Given the description of an element on the screen output the (x, y) to click on. 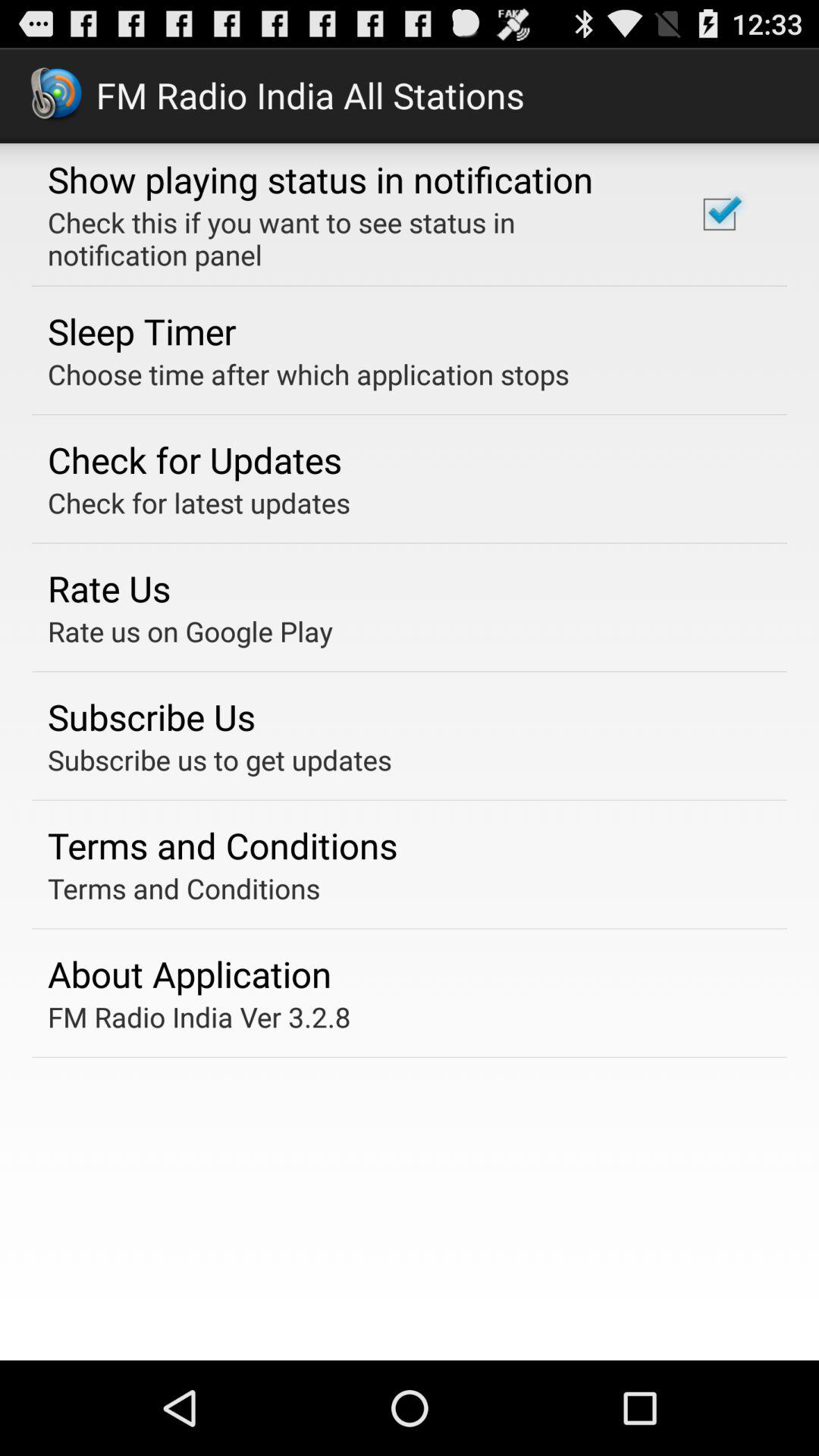
swipe until sleep timer (141, 331)
